Given the description of an element on the screen output the (x, y) to click on. 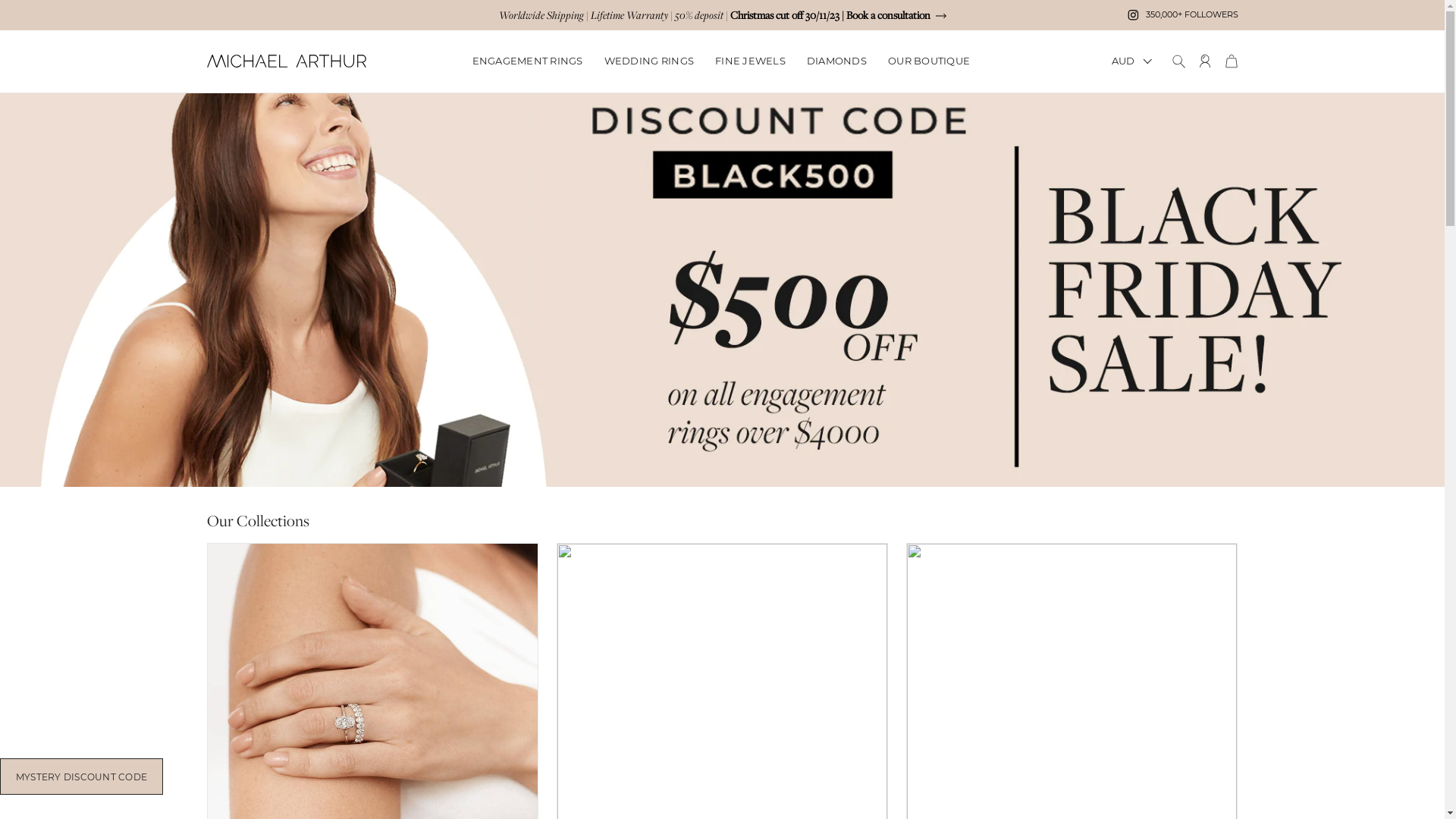
DIAMONDS Element type: text (836, 60)
MYSTERY DISCOUNT CODE Element type: text (81, 776)
WEDDING RINGS Element type: text (648, 60)
ENGAGEMENT RINGS Element type: text (526, 60)
FINE JEWELS Element type: text (750, 60)
OUR BOUTIQUE Element type: text (928, 60)
350,000+ FOLLOWERS Element type: text (1181, 14)
